Given the description of an element on the screen output the (x, y) to click on. 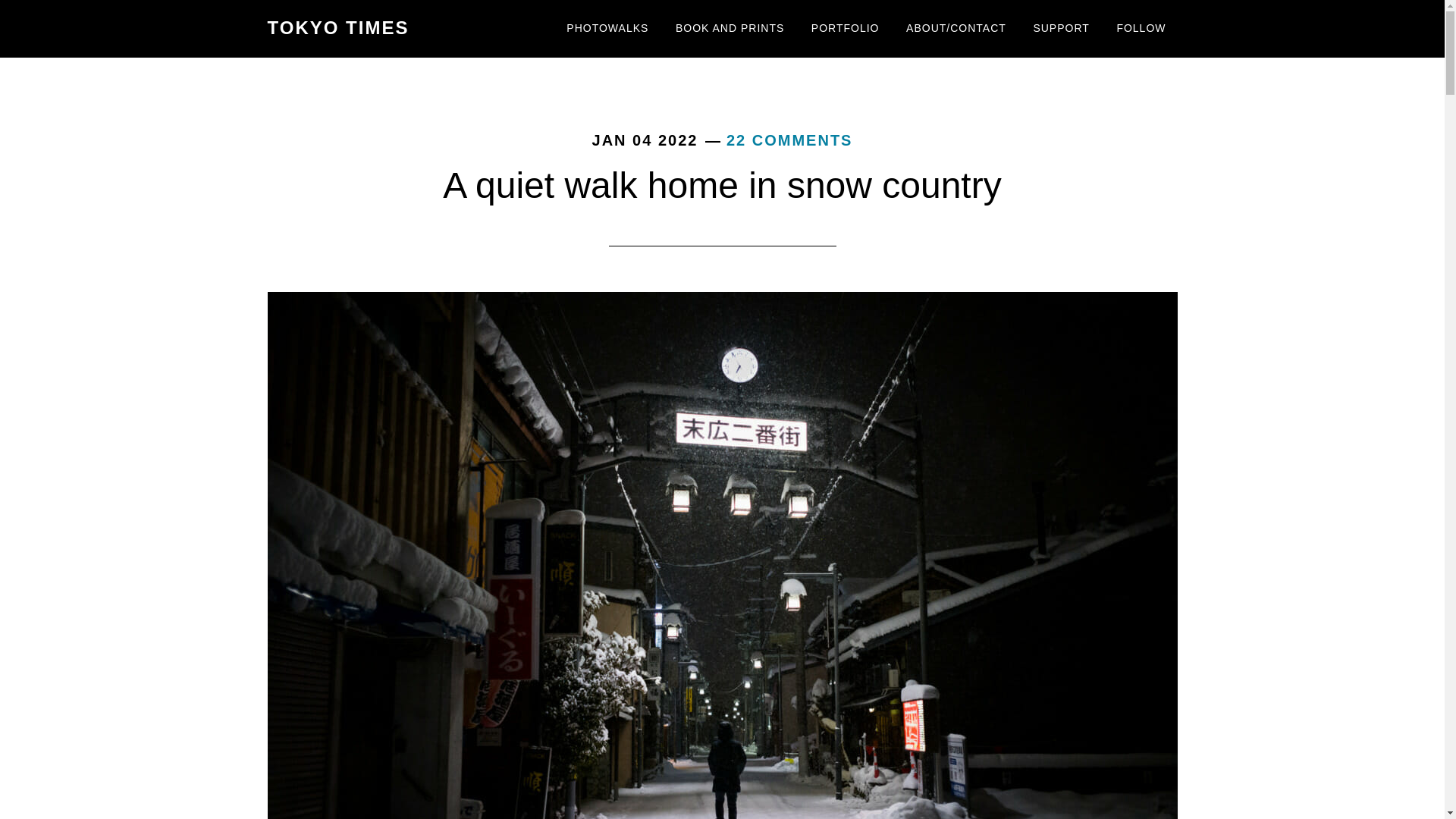
PHOTOWALKS (606, 28)
SUPPORT (1061, 28)
BOOK AND PRINTS (728, 28)
PORTFOLIO (845, 28)
FOLLOW (1140, 28)
22 COMMENTS (788, 139)
TOKYO TIMES (337, 27)
